Given the description of an element on the screen output the (x, y) to click on. 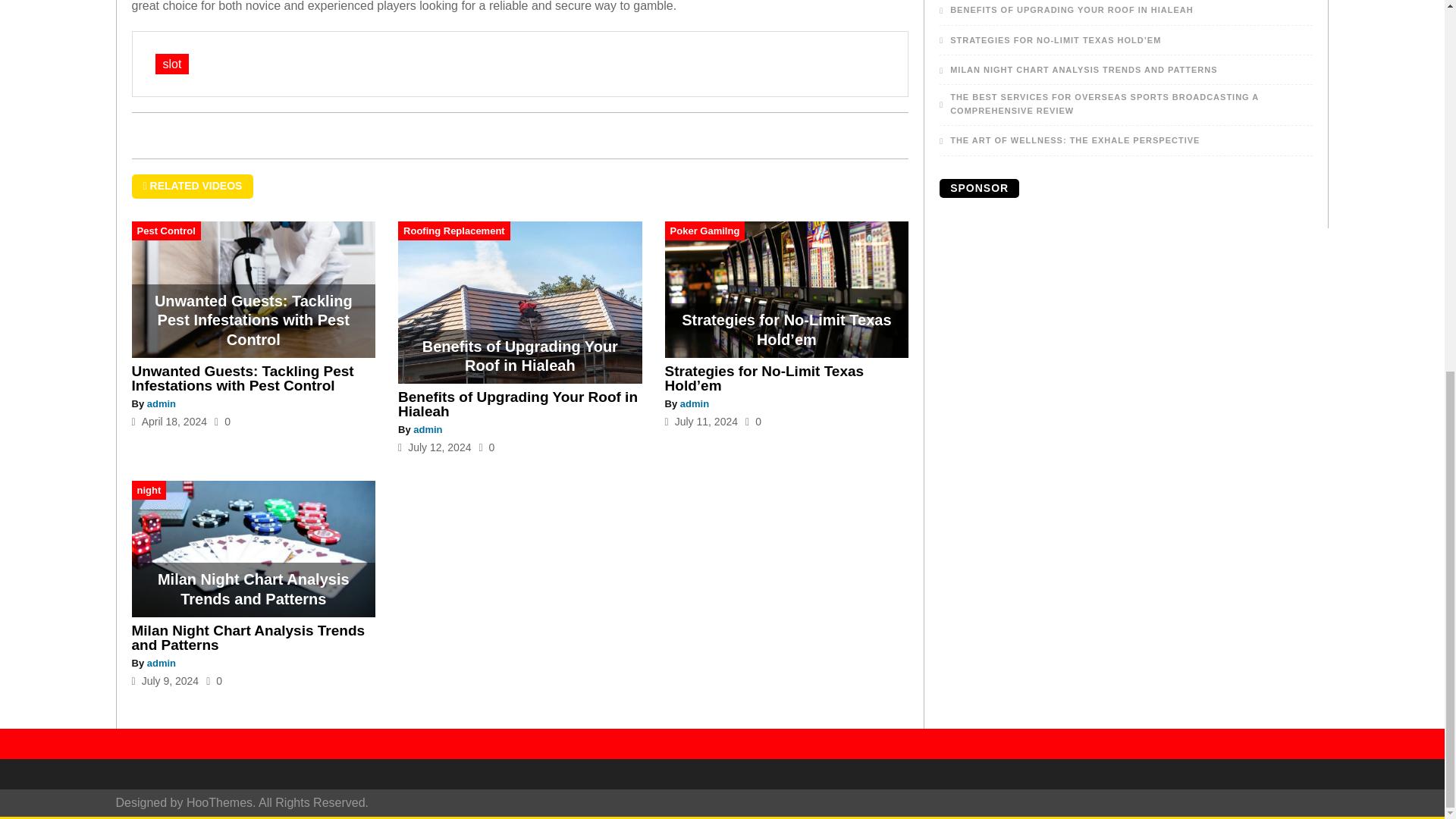
Visits (222, 421)
admin (427, 429)
slot (171, 64)
admin (161, 663)
Posts by admin (694, 403)
Milan Night Chart Analysis Trends and Patterns (248, 637)
Visits (753, 421)
Visits (487, 447)
admin (694, 403)
Posts by admin (161, 663)
admin (161, 403)
Posts by admin (161, 403)
Posts by admin (427, 429)
BENEFITS OF UPGRADING YOUR ROOF IN HIALEAH (1065, 10)
